Given the description of an element on the screen output the (x, y) to click on. 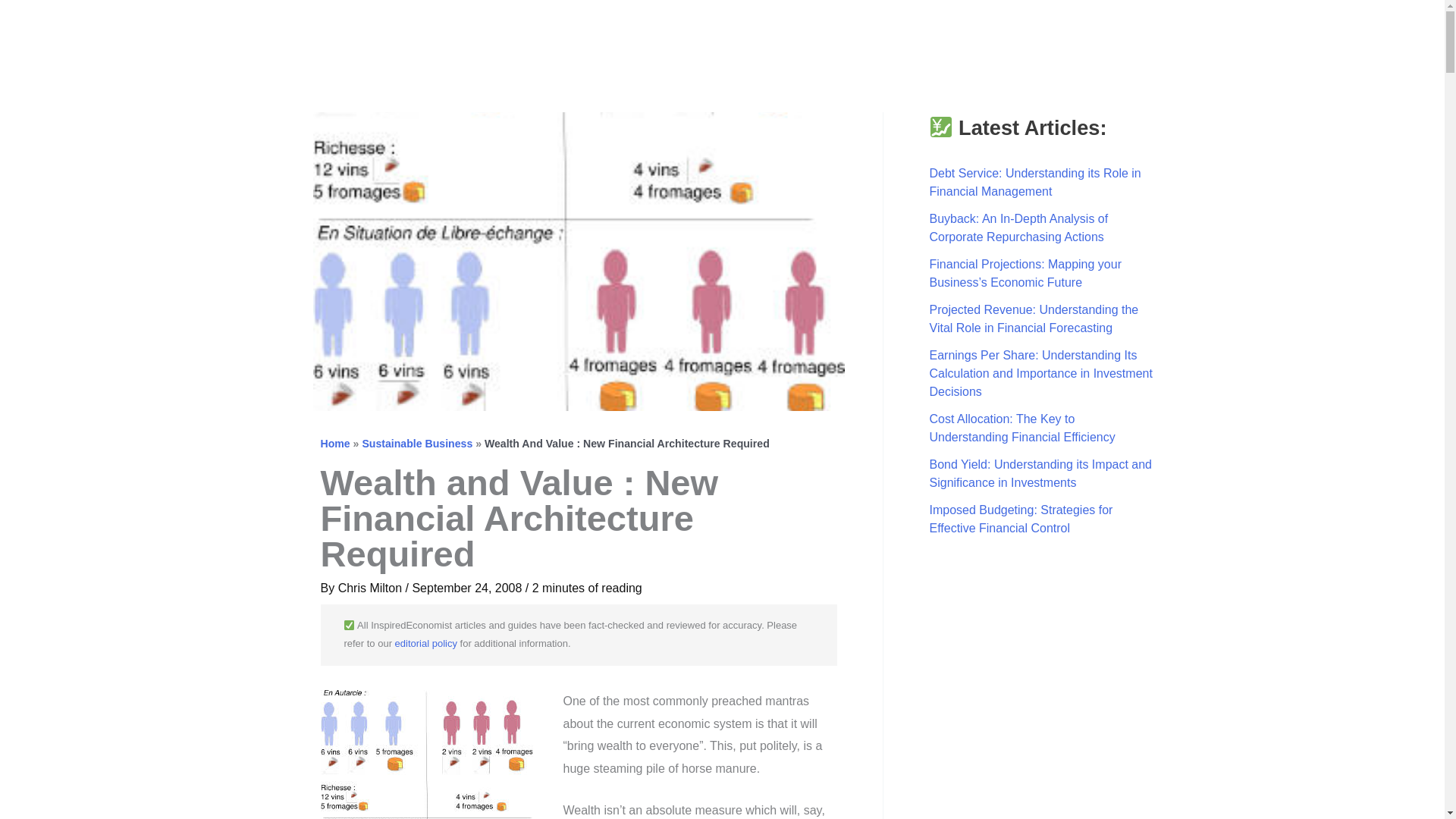
Resources (1354, 31)
Chris Milton (371, 587)
CSR (1279, 31)
View all posts by Chris Milton (371, 587)
Finance (1127, 31)
Investing (1208, 31)
Corporate Social Responsibility (1279, 31)
Home (334, 443)
Sustainable Business (416, 443)
editorial policy (425, 643)
